Given the description of an element on the screen output the (x, y) to click on. 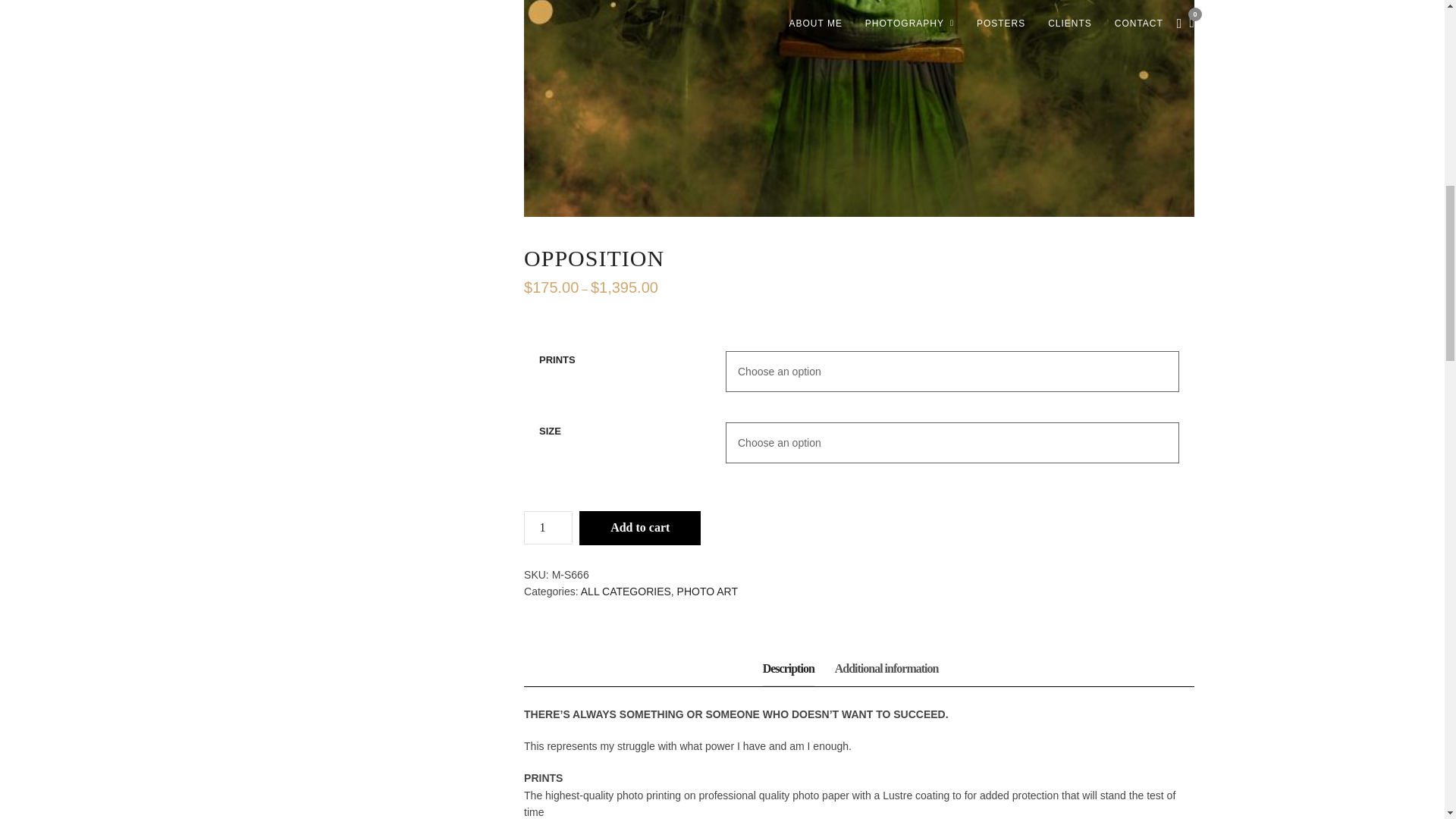
Description (787, 668)
1 (548, 527)
PHOTO ART (707, 591)
Additional information (886, 668)
ALL CATEGORIES (625, 591)
Add to cart (639, 528)
